Given the description of an element on the screen output the (x, y) to click on. 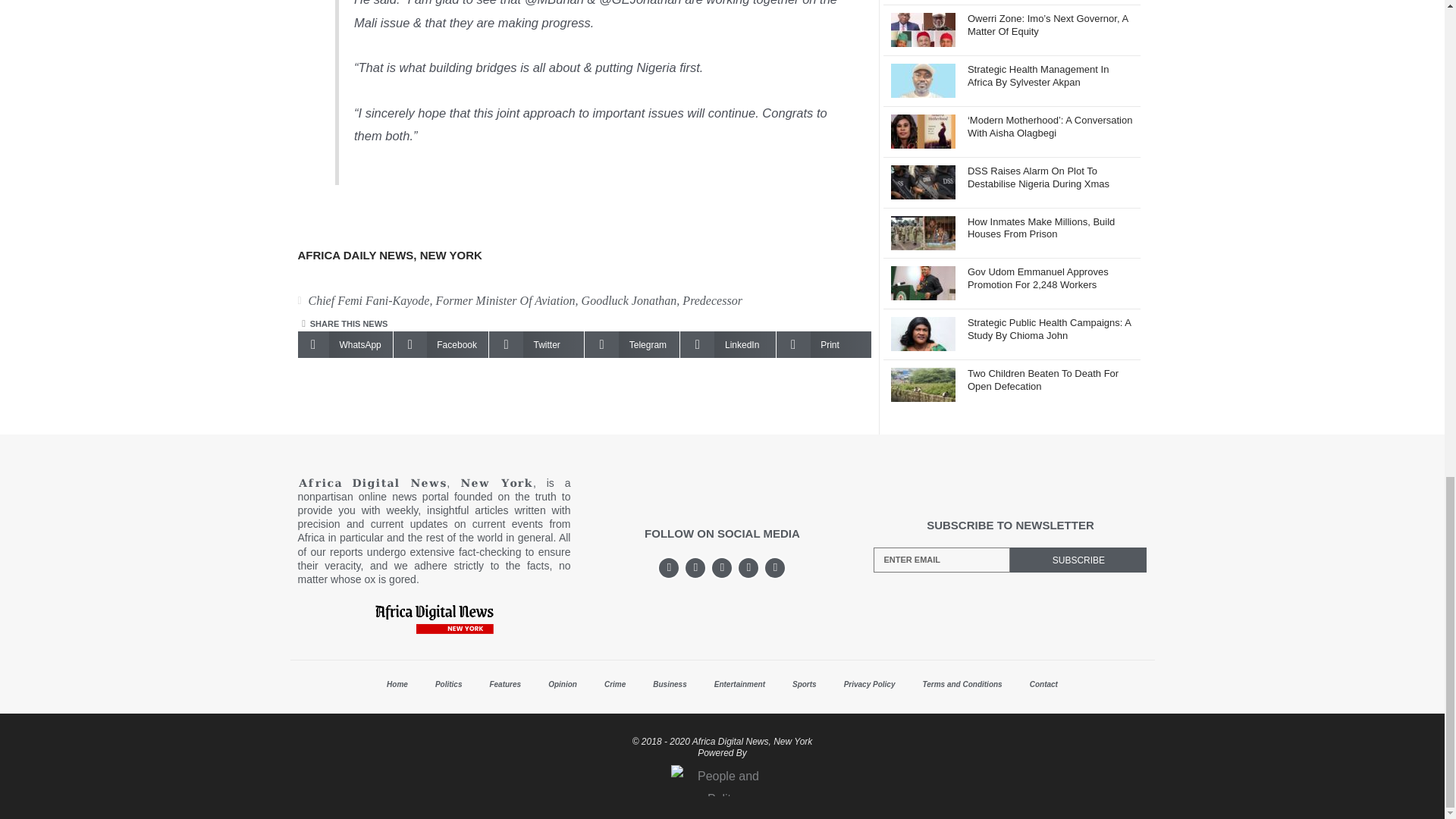
Former Minister Of Aviation (505, 300)
Predecessor (712, 300)
Goodluck Jonathan (628, 300)
Chief Femi Fani-Kayode (368, 300)
